Given the description of an element on the screen output the (x, y) to click on. 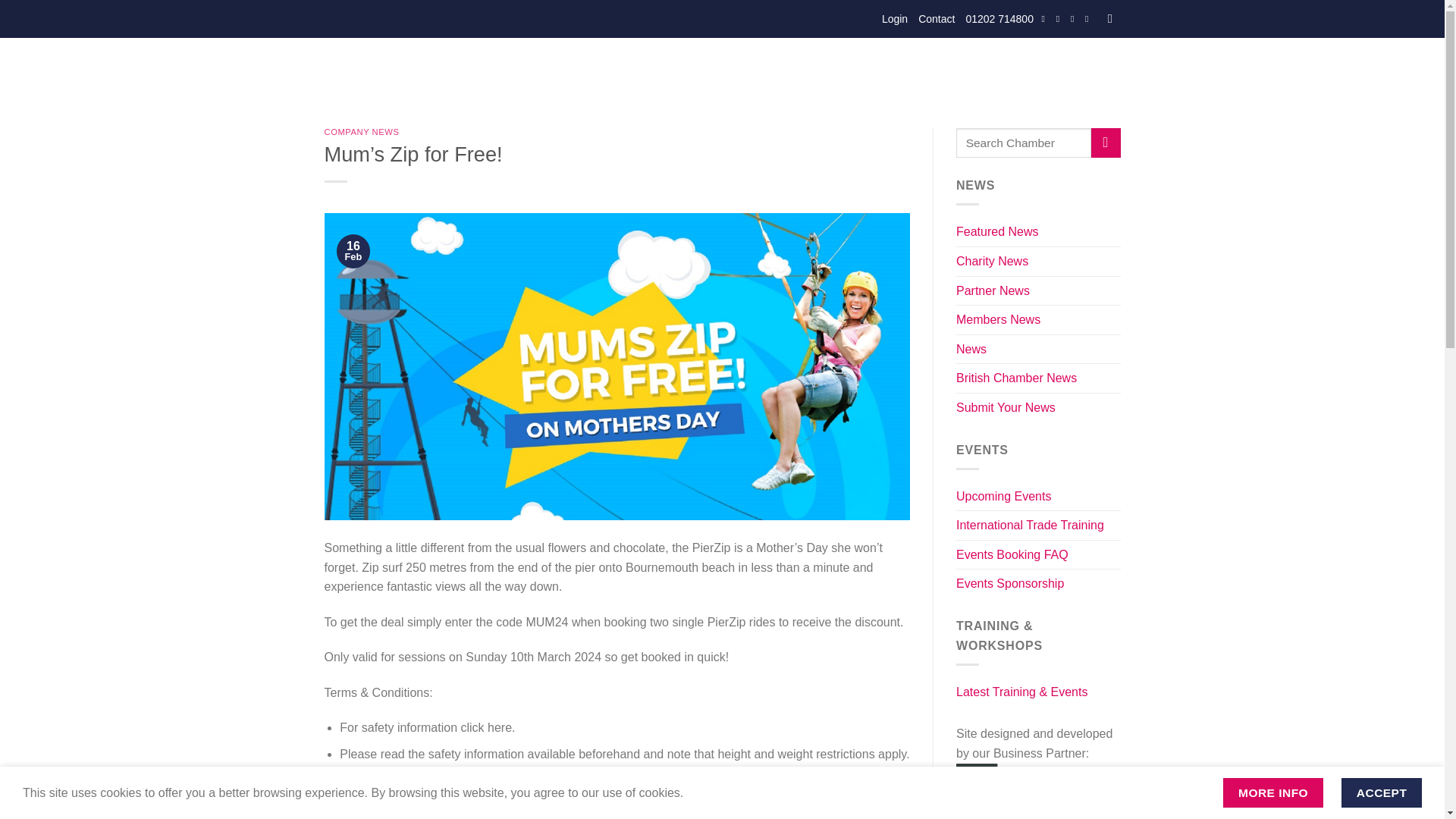
Events (613, 71)
About (559, 71)
01202 714800 (999, 18)
Digital Storm (1031, 783)
Membership (683, 71)
Contact (936, 18)
